Given the description of an element on the screen output the (x, y) to click on. 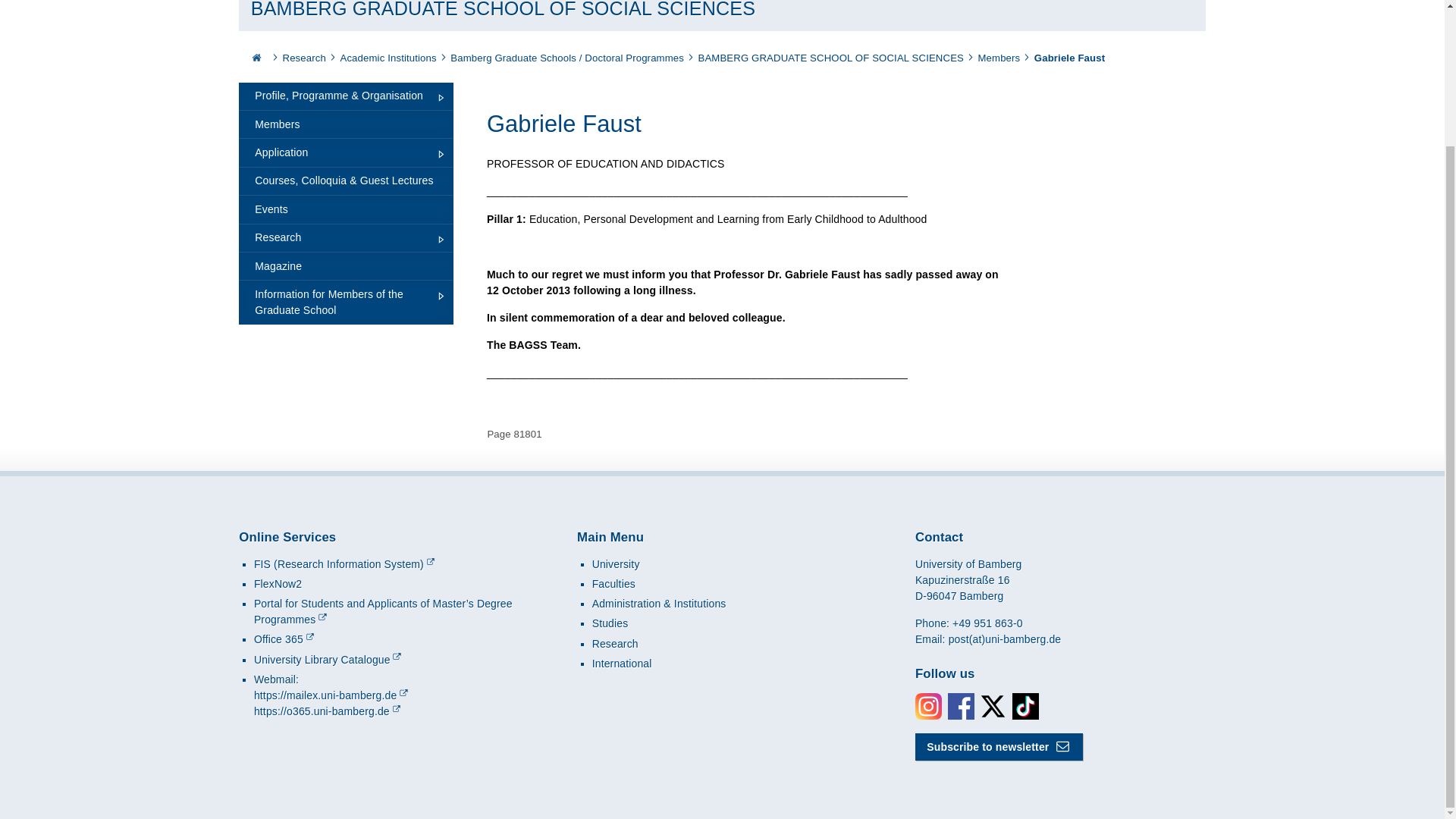
Academic Institutions (387, 58)
Research (304, 58)
Academic Institutions (387, 58)
Members (999, 58)
BAMBERG GRADUATE SCHOOL OF SOCIAL SCIENCES (830, 58)
Members (999, 58)
BAMBERG GRADUATE SCHOOL OF SOCIAL SCIENCES (830, 58)
BAMBERG GRADUATE SCHOOL OF SOCIAL SCIENCES (502, 9)
